Given the description of an element on the screen output the (x, y) to click on. 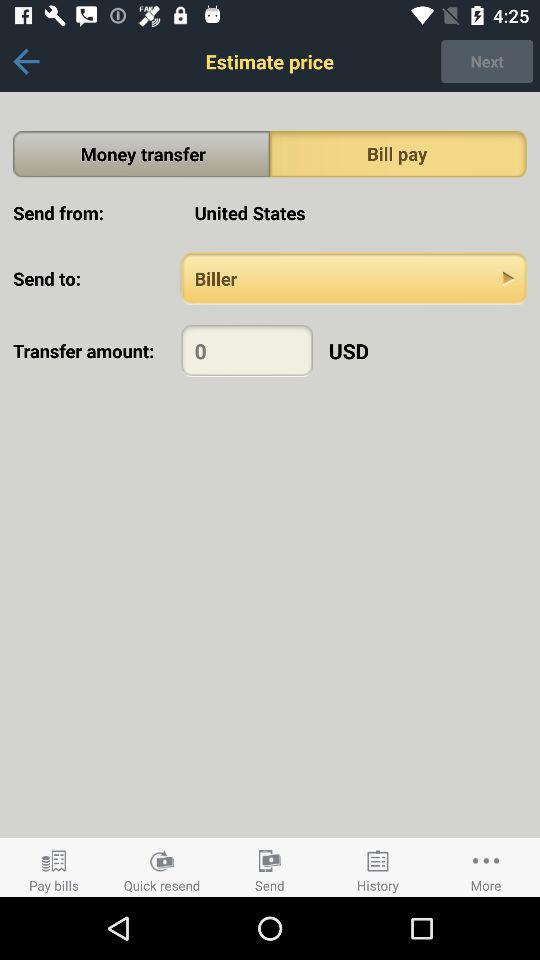
turn off the app next to estimate price (487, 61)
